Given the description of an element on the screen output the (x, y) to click on. 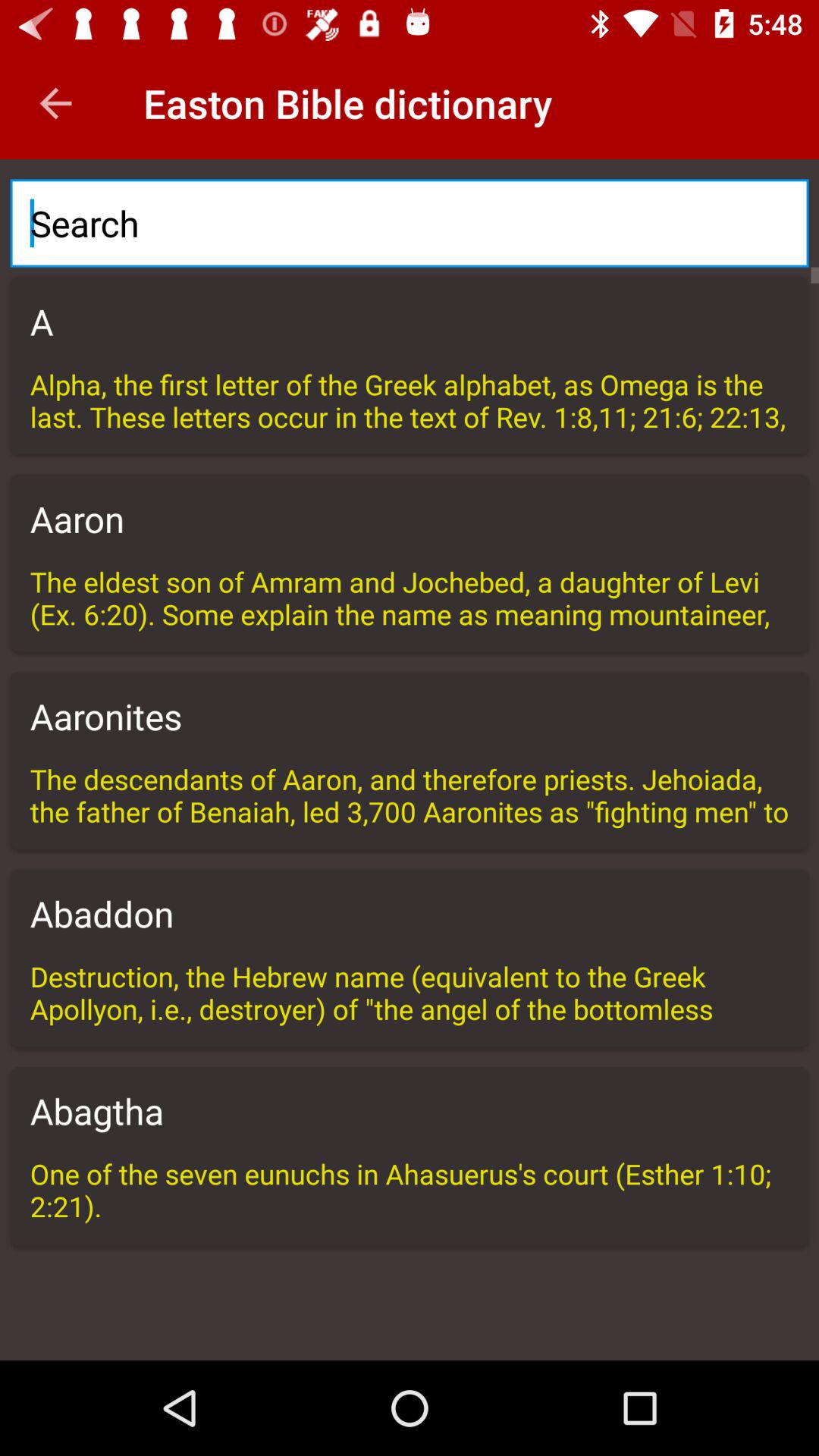
tap icon above a item (409, 223)
